Given the description of an element on the screen output the (x, y) to click on. 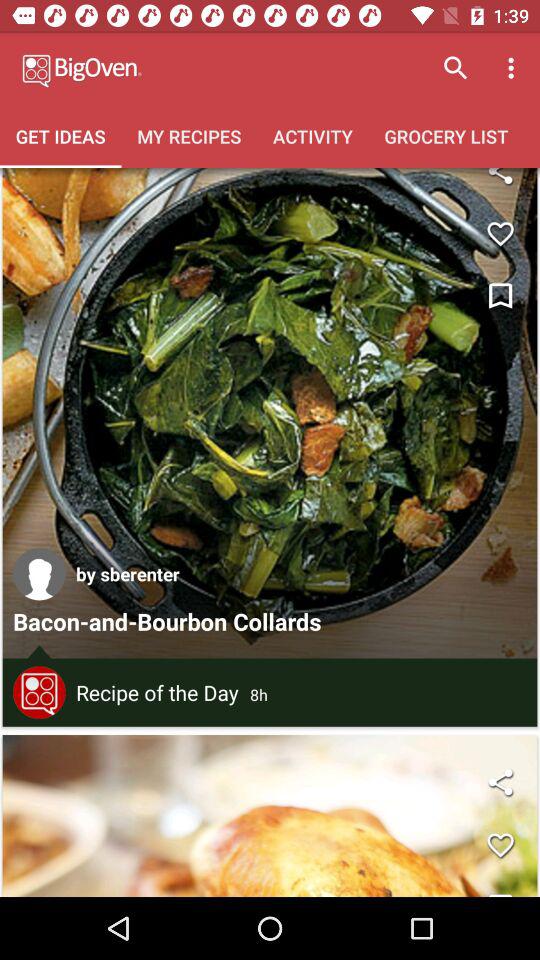
click item above grocery list item (513, 67)
